Given the description of an element on the screen output the (x, y) to click on. 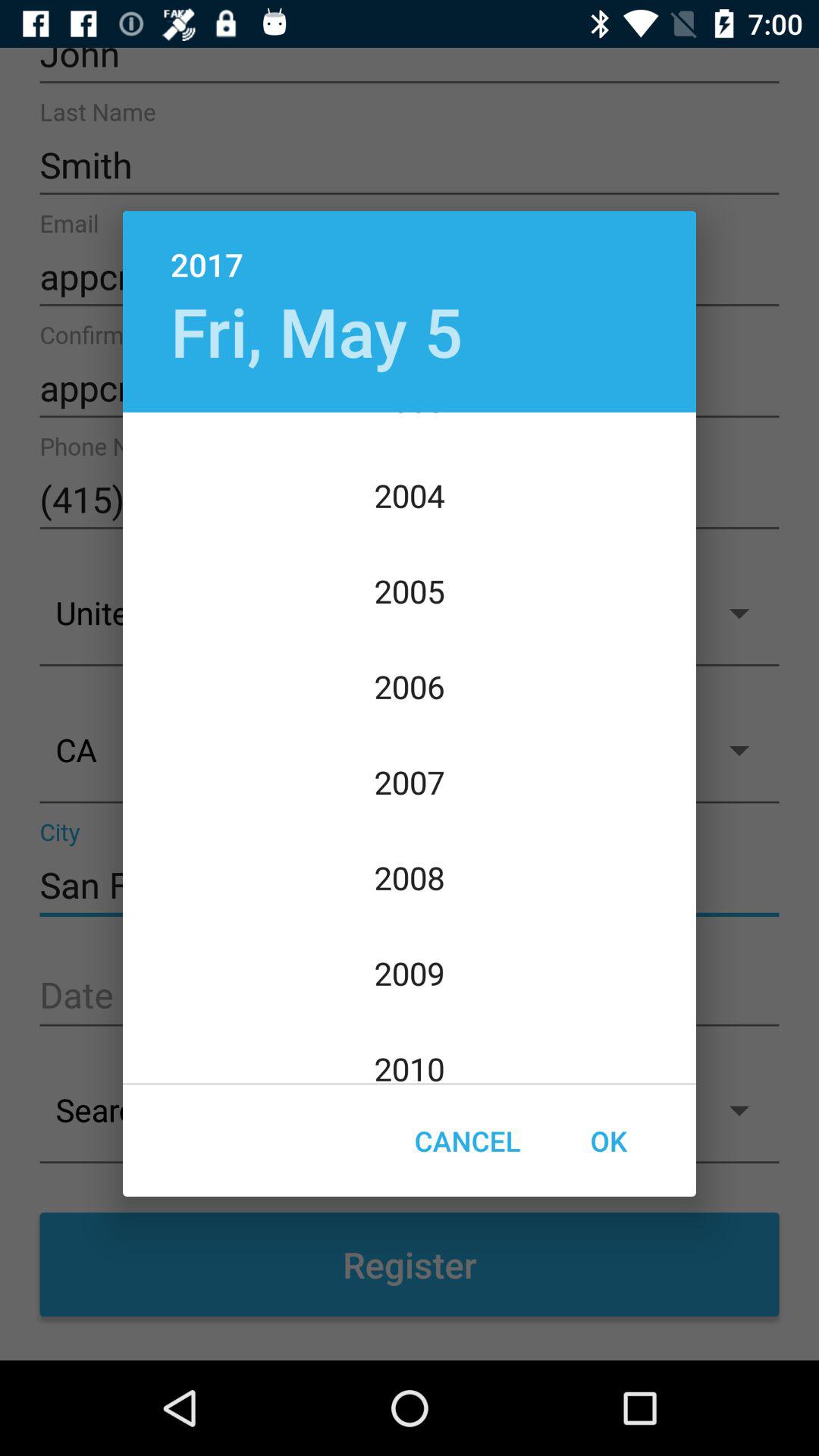
press the icon at the bottom right corner (608, 1140)
